Given the description of an element on the screen output the (x, y) to click on. 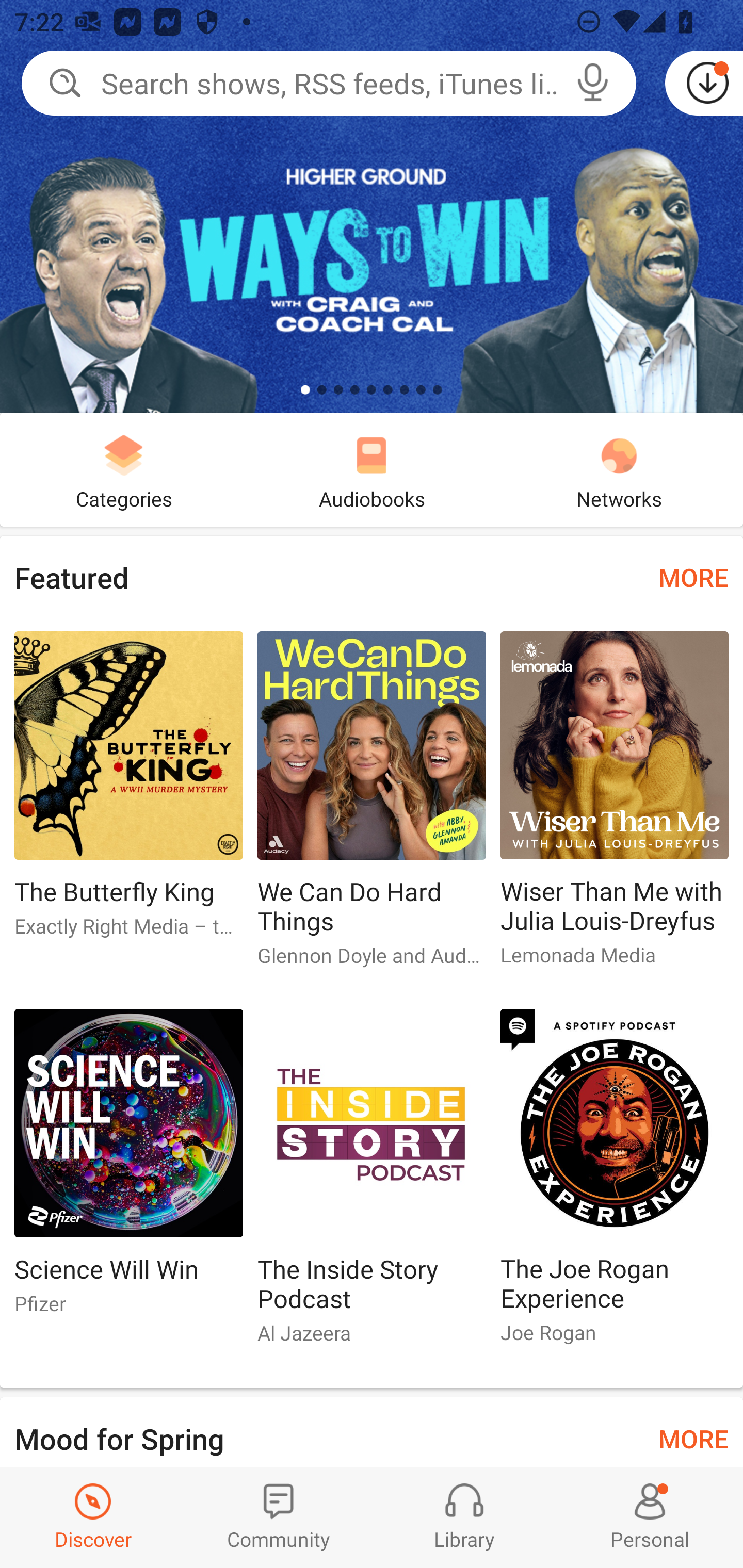
Ways To Win (371, 206)
Categories (123, 469)
Audiobooks (371, 469)
Networks (619, 469)
MORE (693, 576)
Science Will Win Science Will Win Pfizer (128, 1169)
MORE (693, 1436)
Discover (92, 1517)
Community (278, 1517)
Library (464, 1517)
Profiles and Settings Personal (650, 1517)
